Given the description of an element on the screen output the (x, y) to click on. 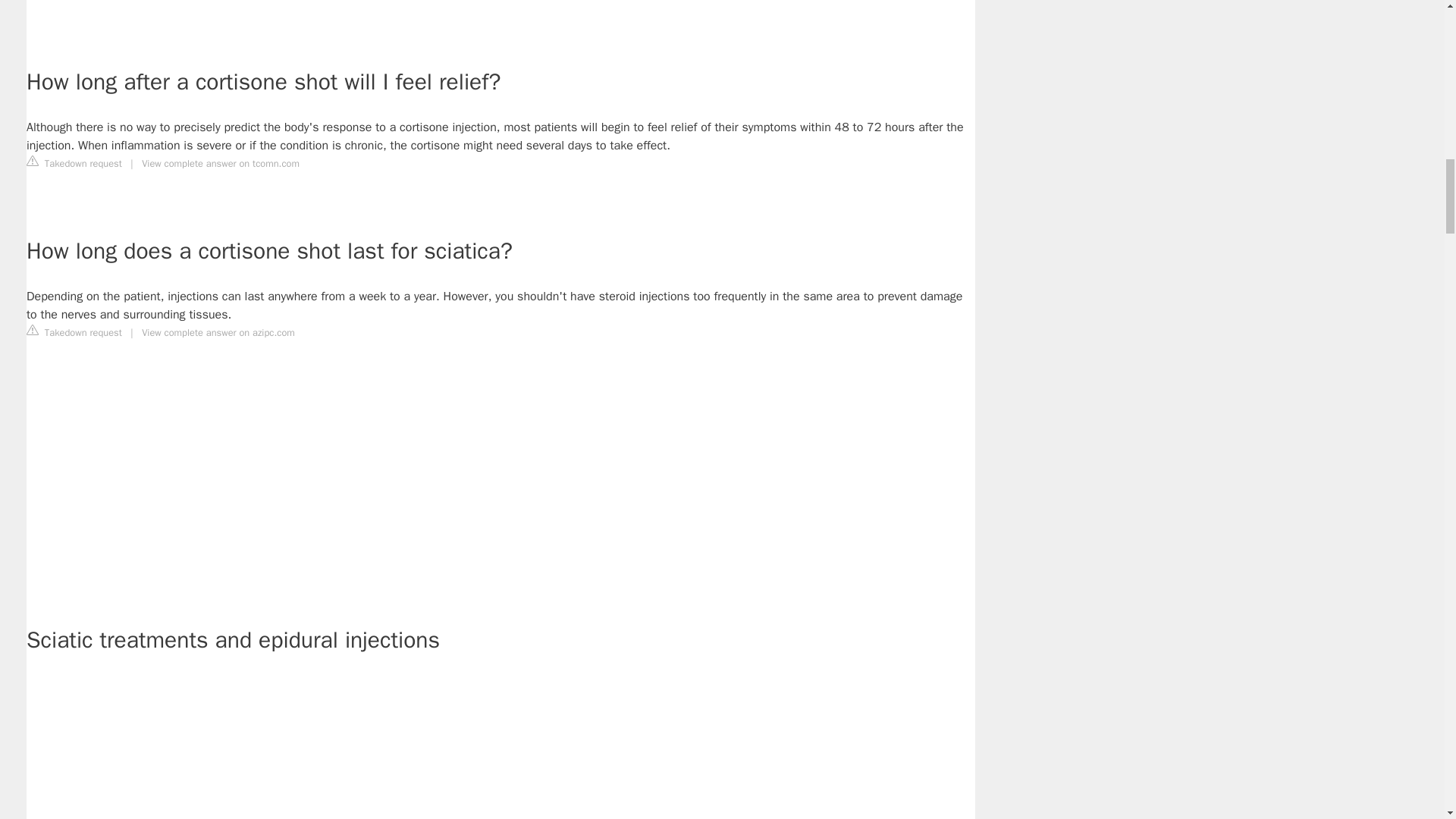
View complete answer on tcomn.com (220, 163)
Takedown request (74, 162)
View complete answer on azipc.com (218, 332)
Takedown request (74, 331)
